Given the description of an element on the screen output the (x, y) to click on. 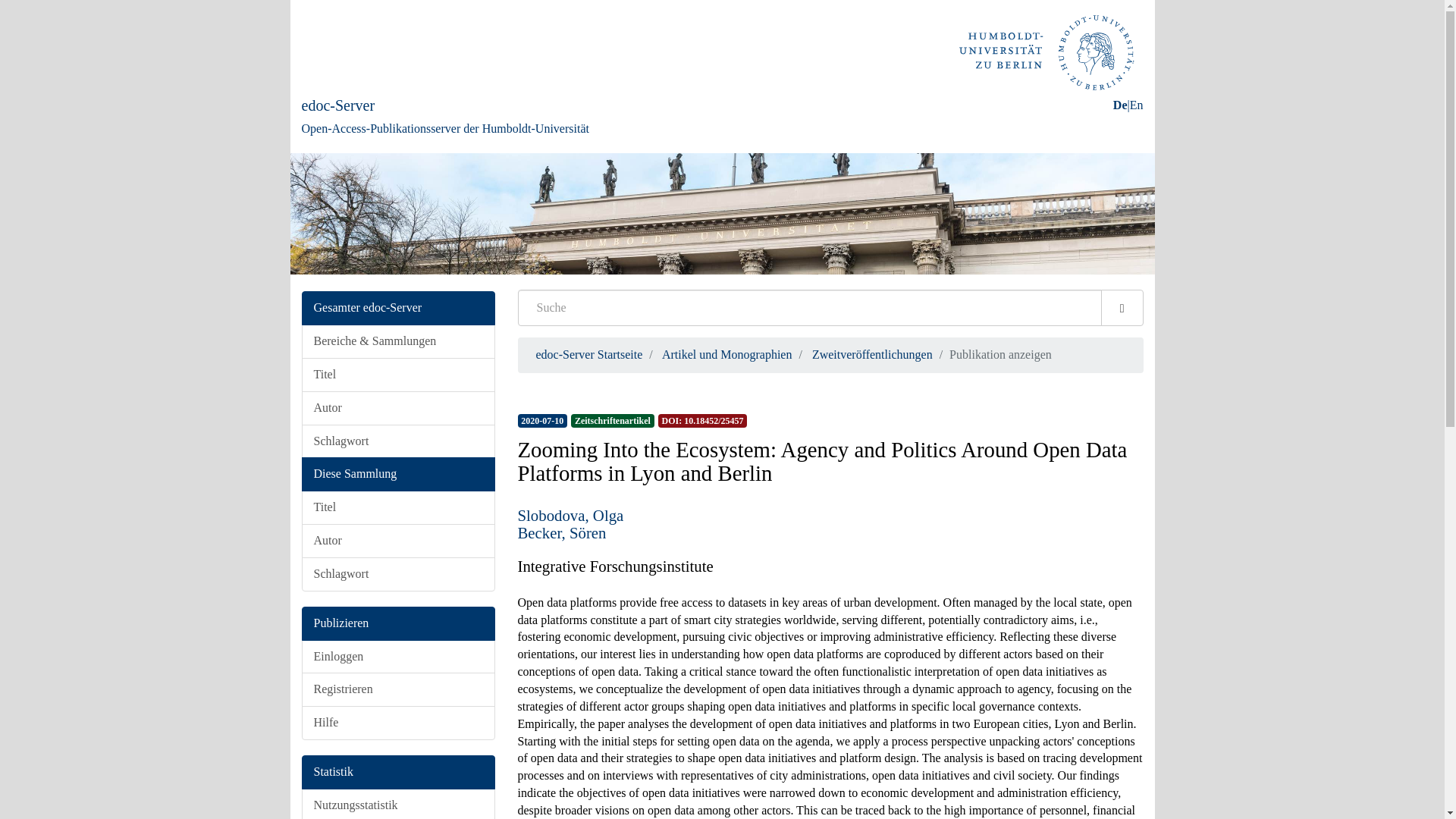
Titel (398, 374)
Einloggen (398, 656)
Autor (398, 408)
Titel (398, 507)
Hilfe (398, 722)
Schlagwort (398, 574)
Gesamter edoc-Server (398, 308)
Schlagwort (398, 441)
Los (1121, 307)
Autor (398, 540)
